Given the description of an element on the screen output the (x, y) to click on. 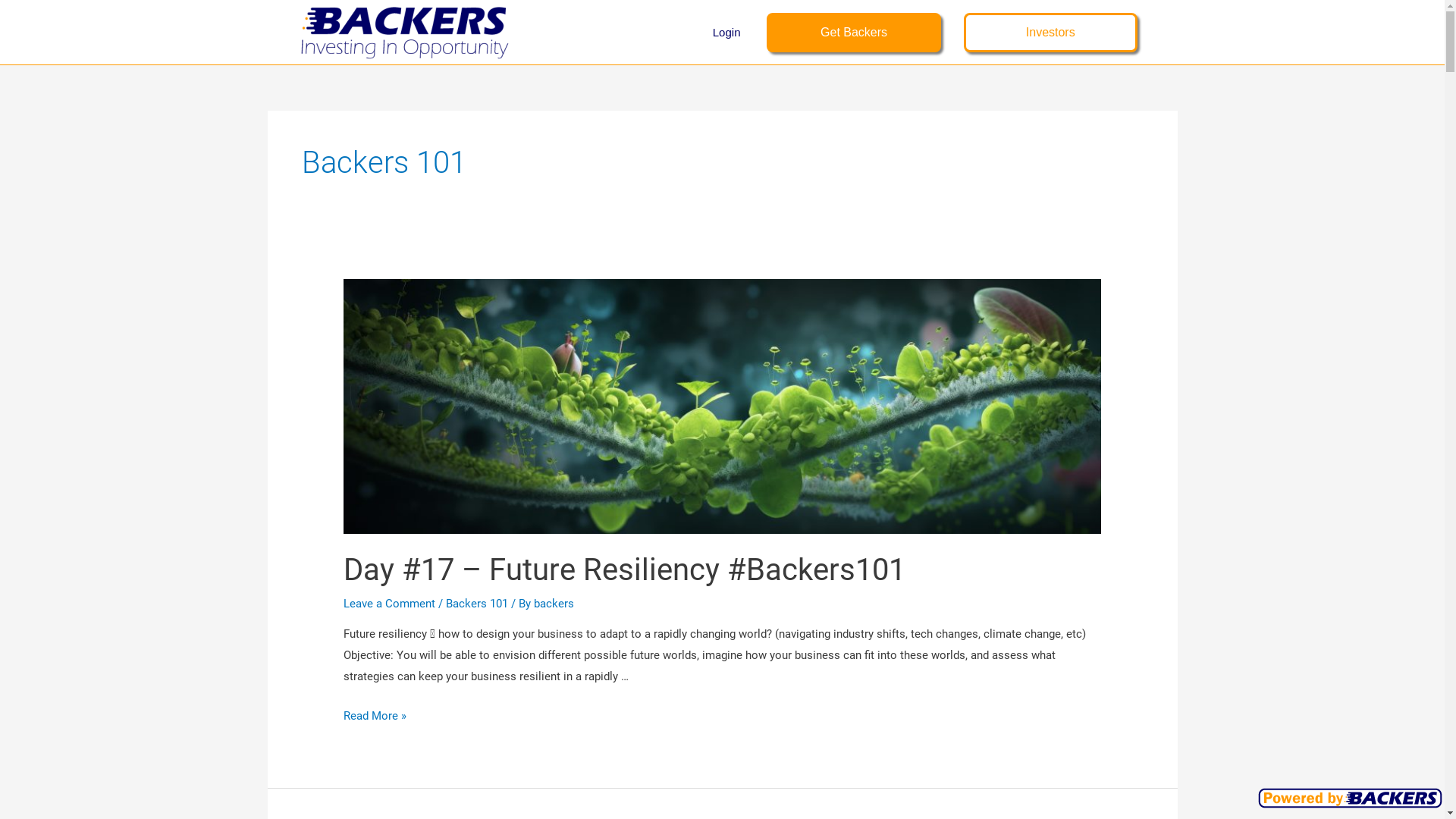
Backers 101 Element type: text (476, 603)
Get Backers Element type: text (853, 31)
Investors Element type: text (1050, 31)
Login Element type: text (726, 32)
backers Element type: text (553, 603)
Leave a Comment Element type: text (389, 603)
